Given the description of an element on the screen output the (x, y) to click on. 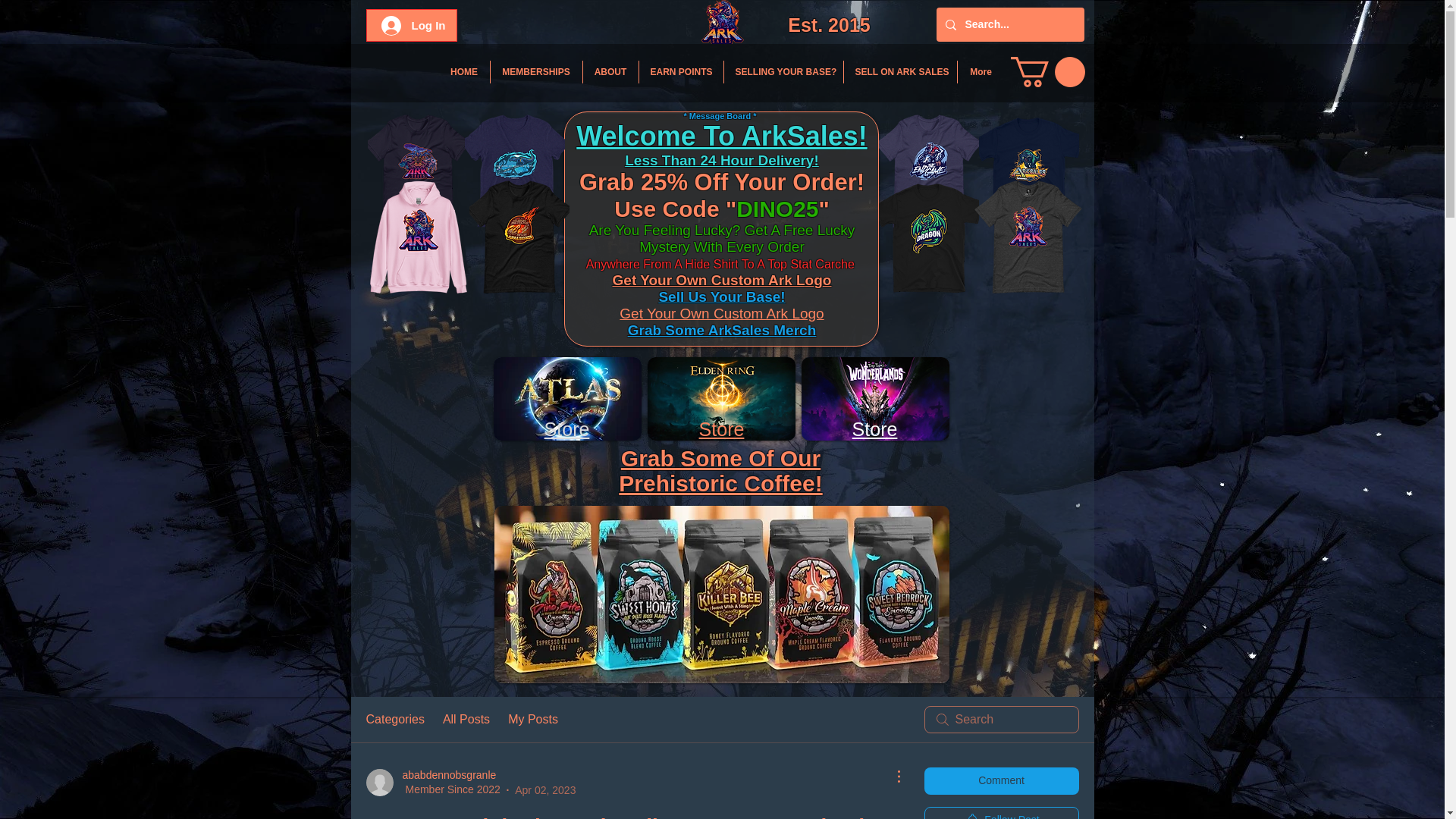
og (813, 279)
SELL ON ARK SALES (899, 71)
MEMBERSHIPS (534, 71)
Sell Us Your Base! (721, 296)
wop7hg2ozh471.png (720, 398)
Grab Some Of Our Prehistoric Coffee! (720, 470)
Get Your Own Custom Ark L (708, 279)
Log In (412, 24)
Store (721, 428)
